Given the description of an element on the screen output the (x, y) to click on. 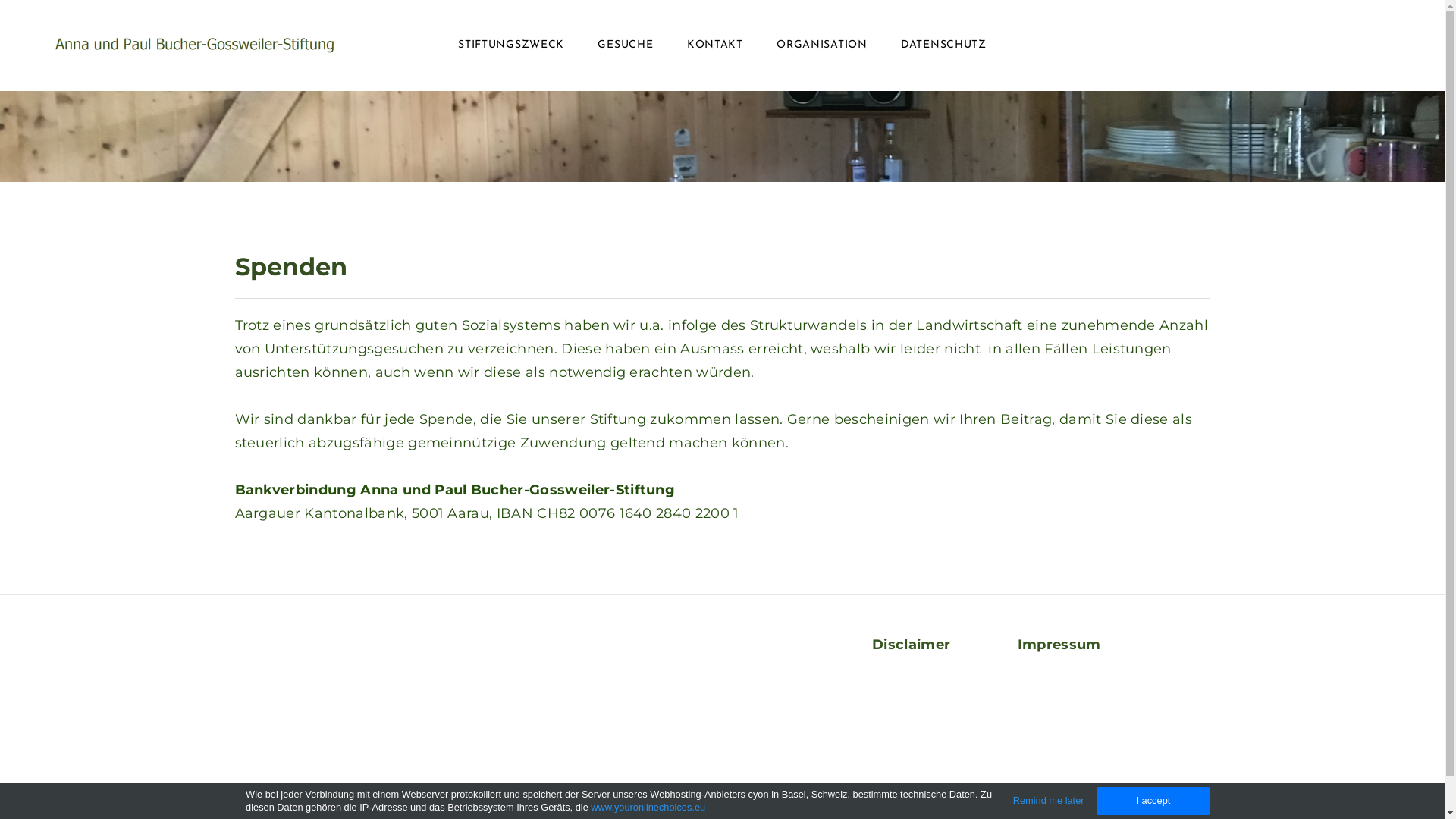
www.youronlinechoices.eu Element type: text (647, 806)
Remind me later Element type: text (1048, 800)
GESUCHE Element type: text (625, 45)
Disclaimer Element type: text (911, 644)
ORGANISATION Element type: text (821, 45)
STIFTUNGSZWECK Element type: text (510, 45)
DATENSCHUTZ Element type: text (943, 45)
Impressum Element type: text (1059, 644)
I accept Element type: text (1153, 801)
KONTAKT Element type: text (714, 45)
